Given the description of an element on the screen output the (x, y) to click on. 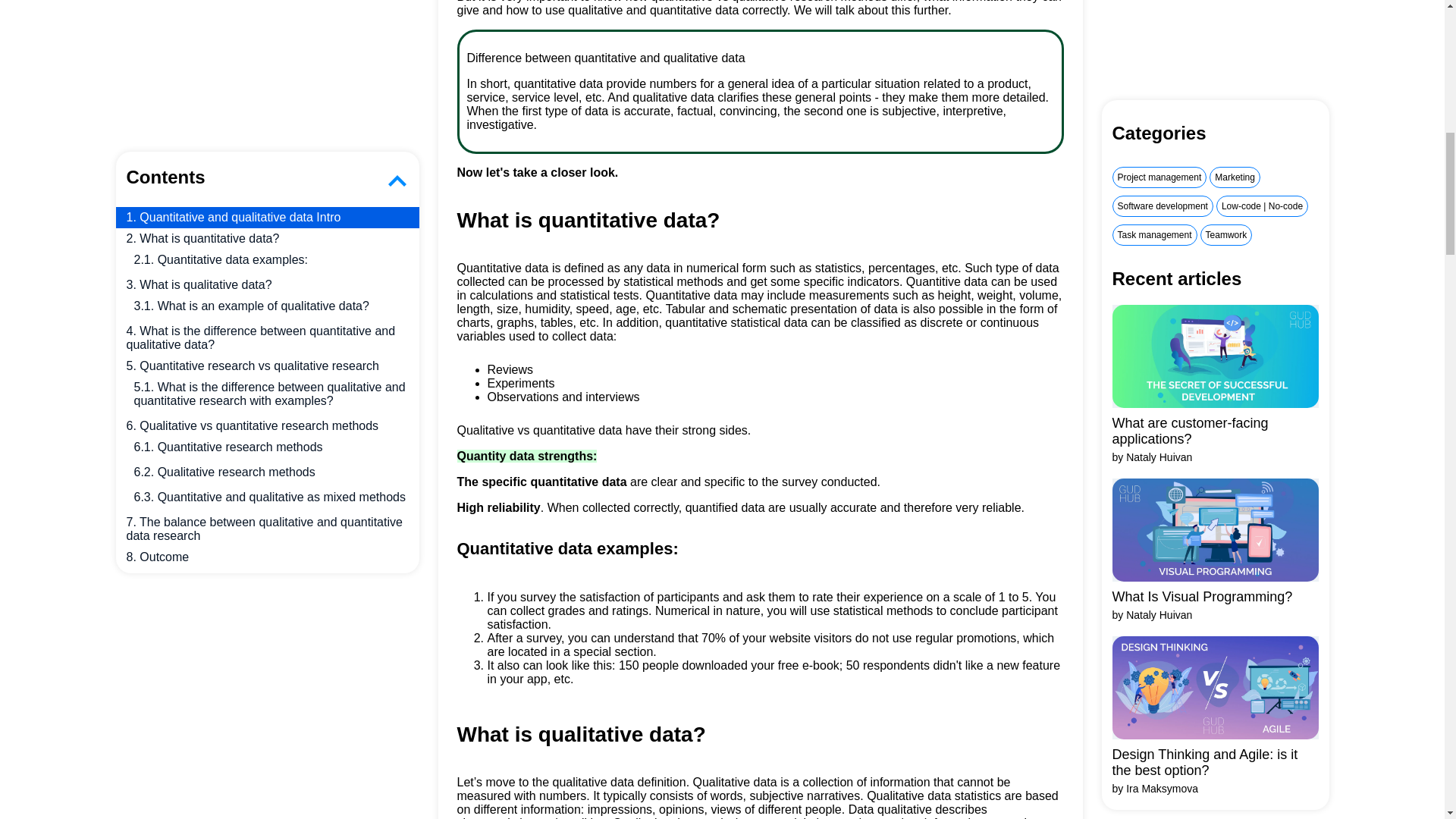
discrete or continuous variables (748, 329)
